Given the description of an element on the screen output the (x, y) to click on. 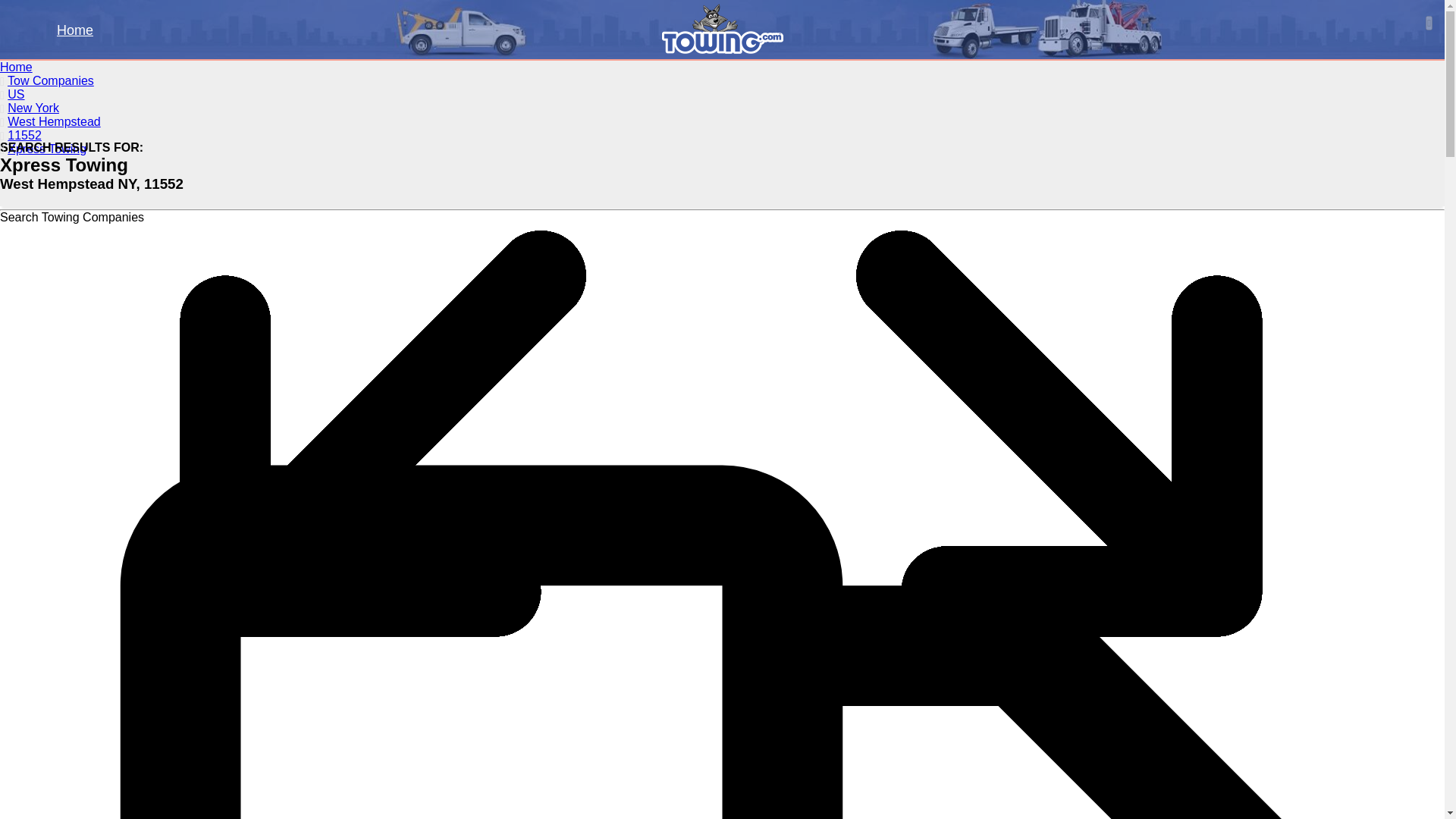
Xpress Towing (46, 148)
Find A Towing Company (135, 68)
11552 (24, 134)
US (15, 93)
Home (16, 66)
New York (33, 107)
West Hempstead (53, 121)
Tow Companies (50, 80)
Home (74, 30)
